Given the description of an element on the screen output the (x, y) to click on. 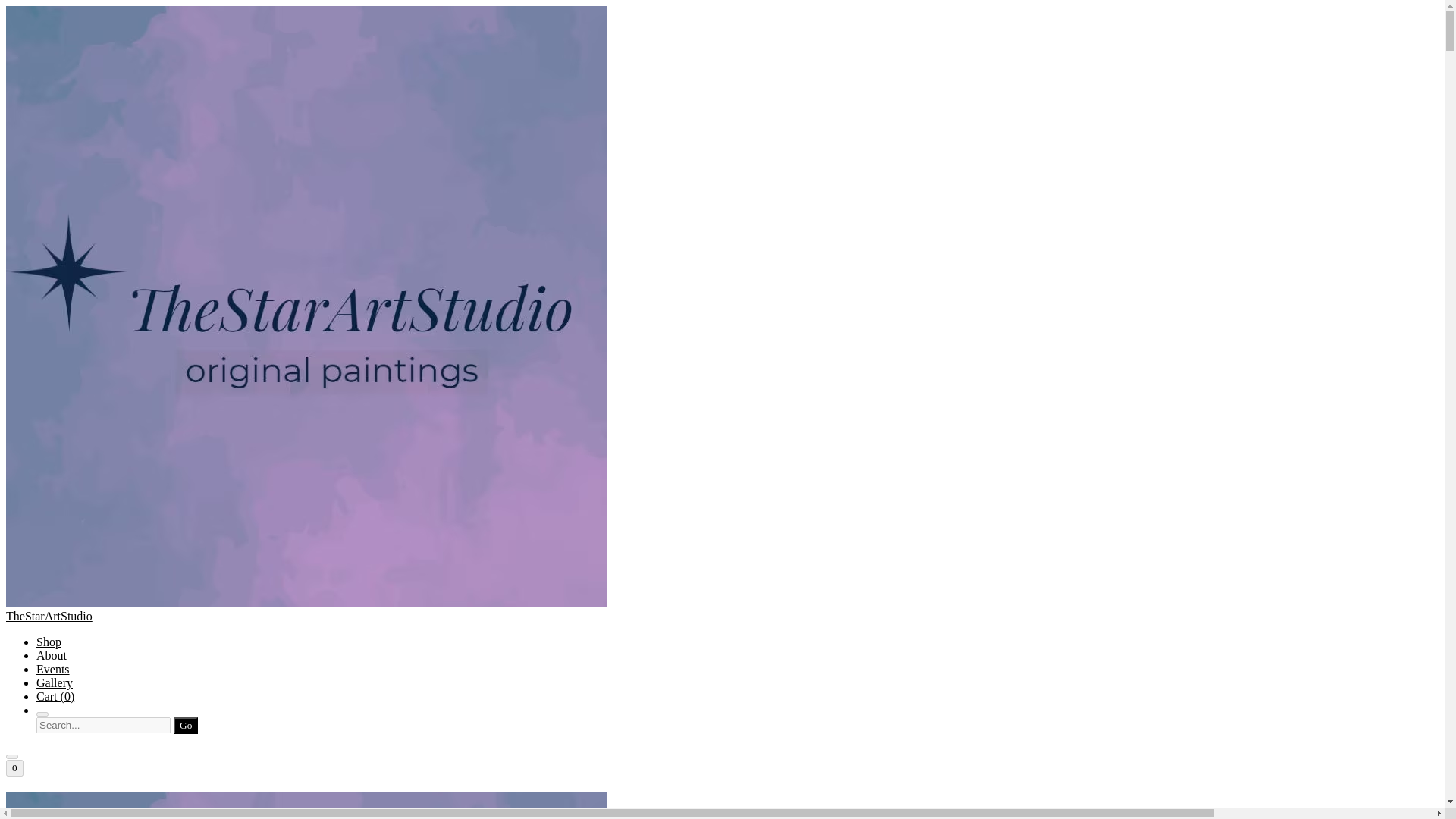
About (51, 655)
TheStarArtStudio (721, 805)
Go (185, 725)
Shop (48, 641)
0 (14, 768)
Go (185, 725)
Gallery (54, 682)
Events (52, 668)
